Given the description of an element on the screen output the (x, y) to click on. 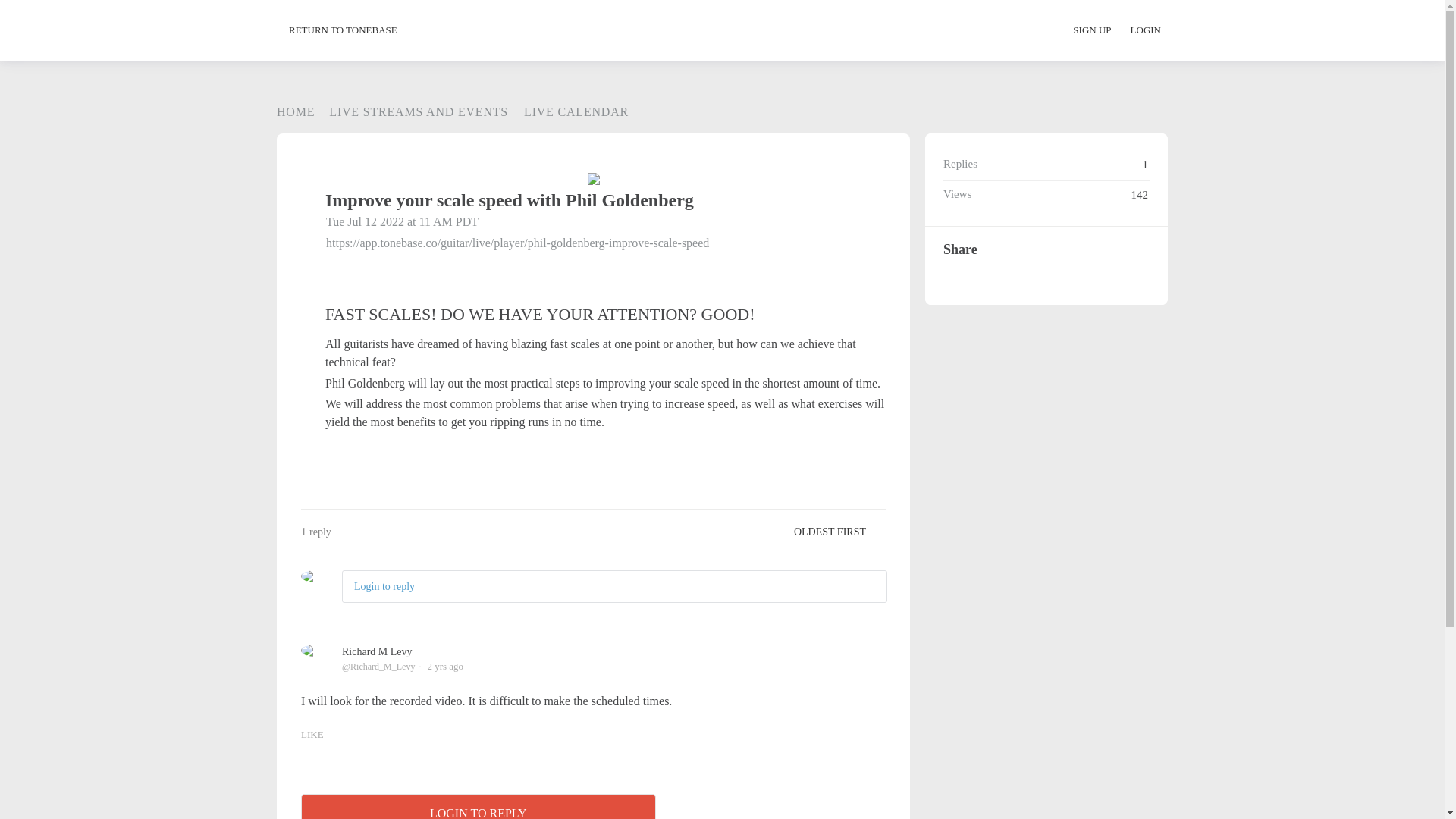
LIVE CALENDAR (569, 111)
LOGIN TO REPLY (478, 806)
LOGIN (1145, 30)
SIGN UP (1099, 30)
RETURN TO TONEBASE (342, 30)
HOME (295, 111)
Richard M Levy (377, 651)
Login to reply (383, 586)
LIVE STREAMS AND EVENTS (411, 111)
